Given the description of an element on the screen output the (x, y) to click on. 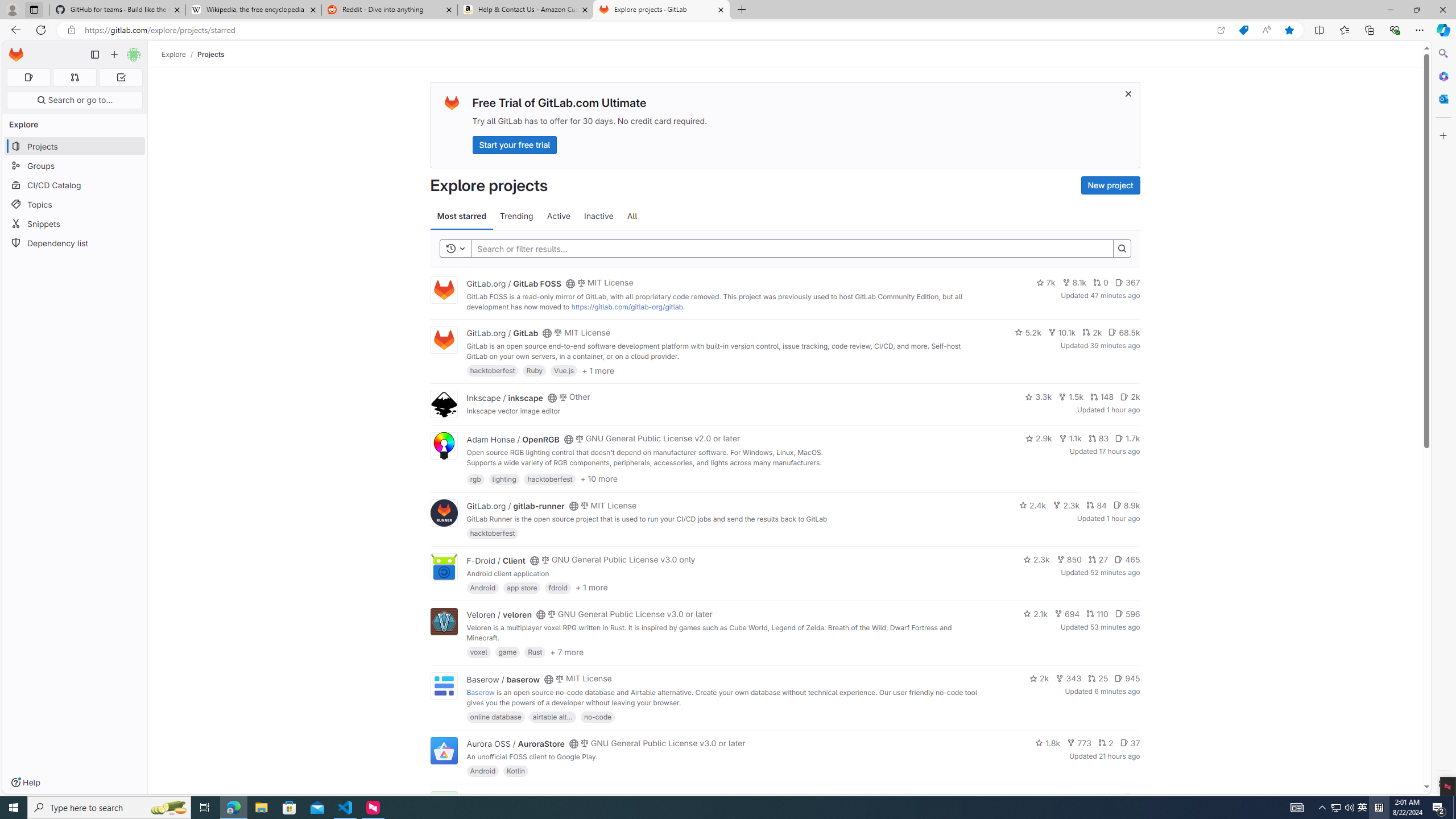
Start your free trial (514, 144)
2.1k (1035, 613)
1 (1111, 797)
596 (1127, 613)
2.3k (1035, 559)
CI/CD Catalog (74, 185)
rgb (475, 478)
Inkscape / inkscape (504, 397)
68.5k (1124, 331)
online database (495, 715)
fdroid (558, 587)
